Given the description of an element on the screen output the (x, y) to click on. 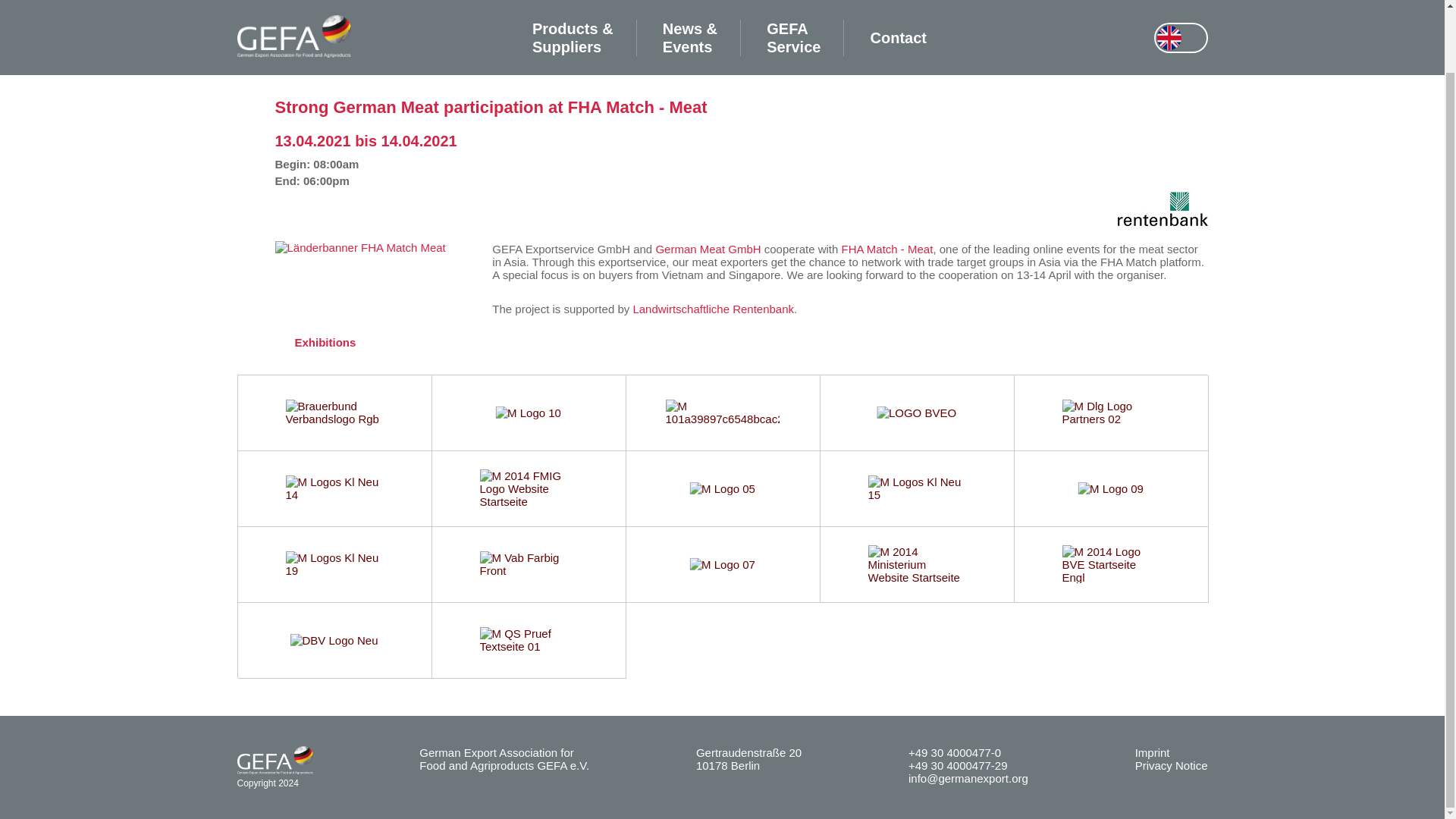
Brauerbund Verbandslogo Rgb (333, 412)
20140905 Rentenbank Logo (1163, 221)
M 101a39897c6548bcac2ec8ab4966c3fd (721, 412)
M Logo 10 (527, 412)
M Logos Kl Neu 14 (333, 488)
LOGO BVEO (916, 412)
M Dlg Logo Partners 02 (1109, 412)
